Given the description of an element on the screen output the (x, y) to click on. 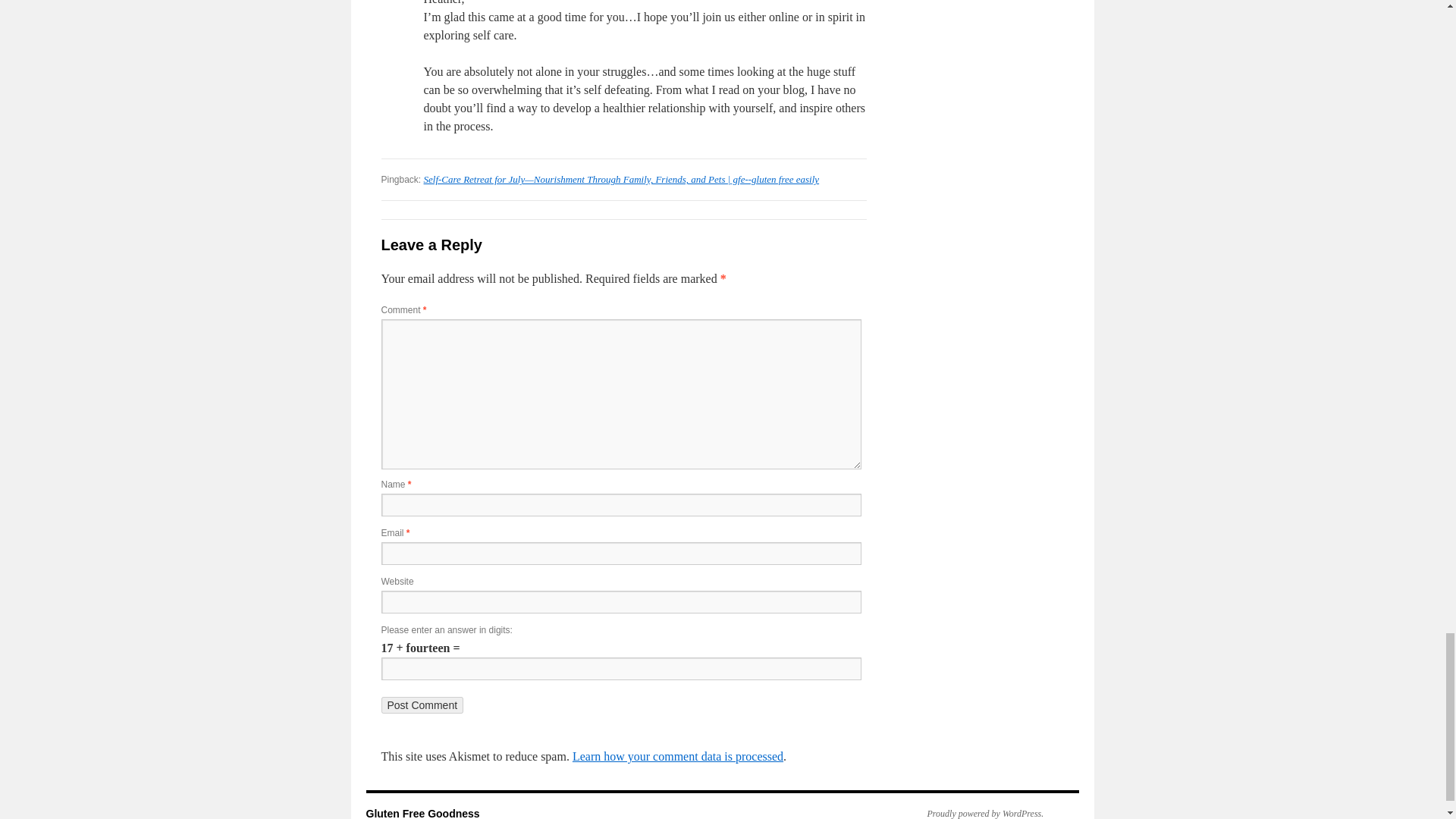
Learn how your comment data is processed (677, 756)
Post Comment (421, 704)
Post Comment (421, 704)
